Given the description of an element on the screen output the (x, y) to click on. 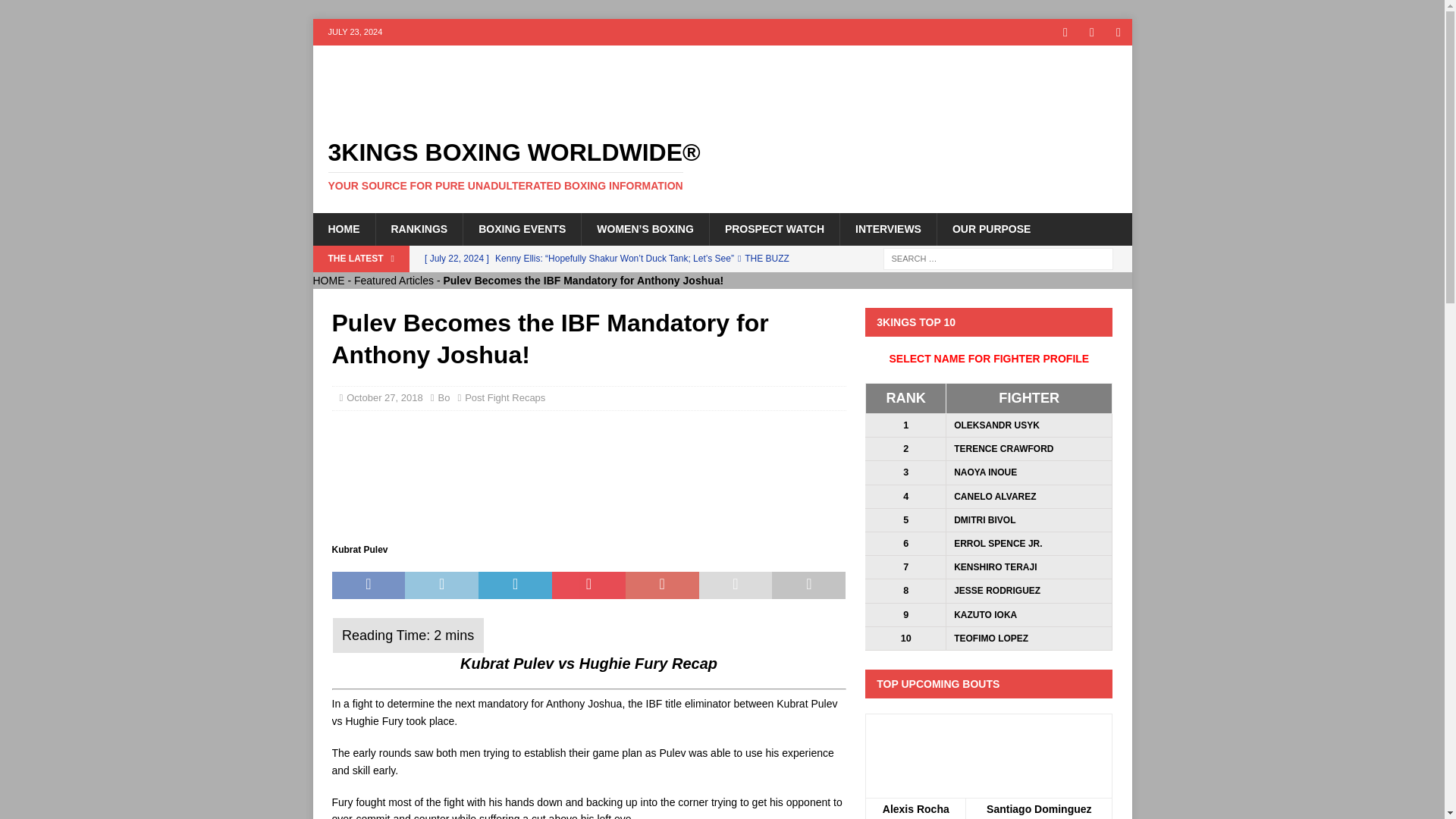
Follow 3Kings on Twitter (1091, 31)
Follw 3Kings on Instagram (1118, 31)
OUR PURPOSE (990, 228)
Chantelle Cameron Should Move On And Target Sandy Ryan (630, 296)
HOME (328, 280)
Post Fight Recaps (504, 397)
Search (56, 11)
PROSPECT WATCH (774, 228)
INTERVIEWS (888, 228)
HOME (343, 228)
October 27, 2018 (384, 397)
Follow 3Kings on Facebook (1065, 31)
BOXING EVENTS (521, 228)
RANKINGS (418, 228)
Bo (443, 397)
